Given the description of an element on the screen output the (x, y) to click on. 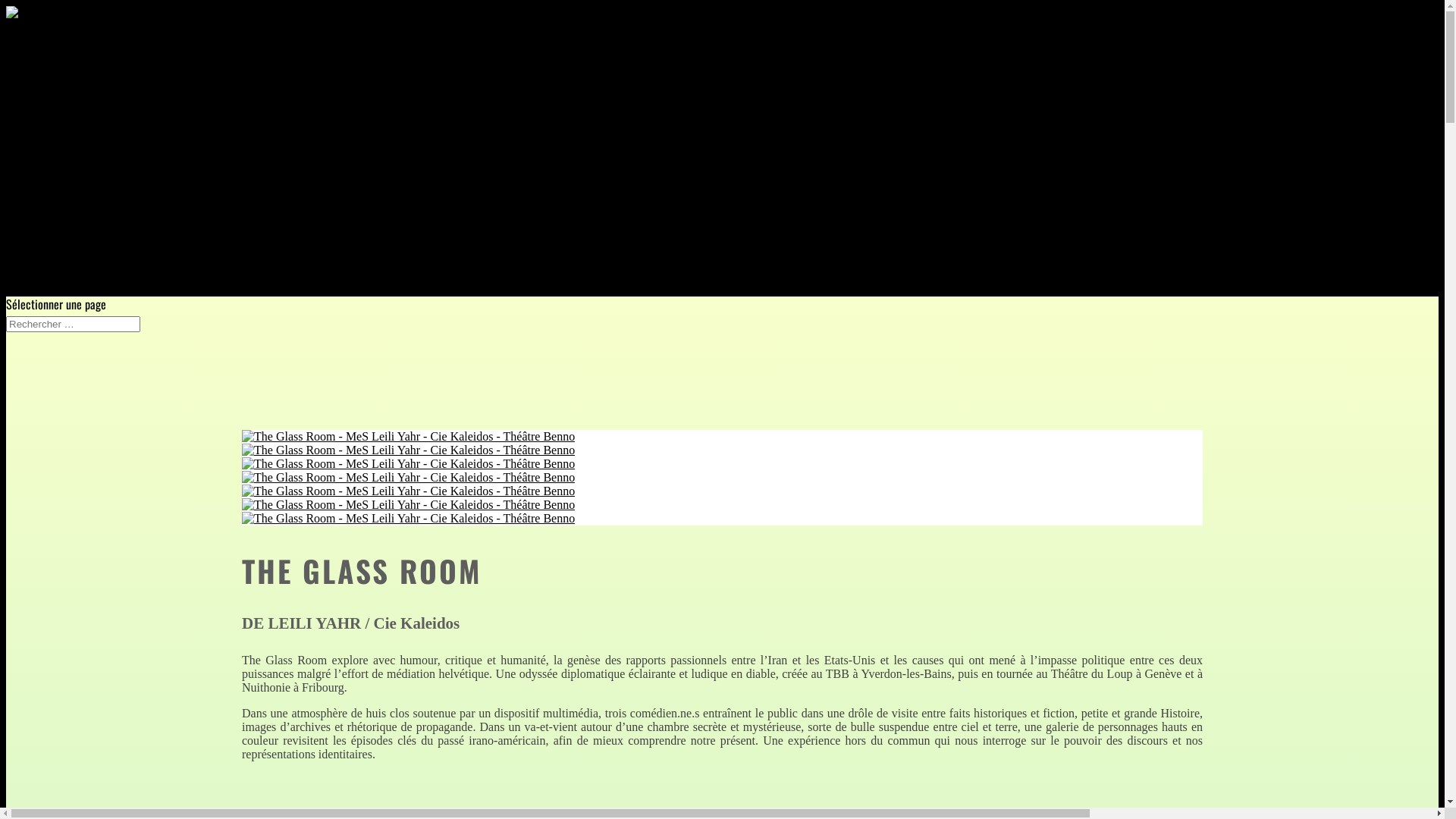
THE GLASS ROOM Element type: text (108, 102)
SALOME Element type: text (85, 121)
MEDEA Element type: text (82, 159)
Cie ELEKTRA Element type: text (95, 178)
LA PHILO EN JEUX Element type: text (77, 272)
KOSMOSE Element type: text (119, 197)
INTERVENANTS Element type: text (71, 253)
ACCUEIL Element type: text (56, 45)
SWING Element type: text (82, 140)
CIE KALEIDOS Element type: text (68, 64)
STANDING UP! Element type: text (130, 234)
Rechercher: Element type: hover (73, 324)
SPECTACLES Element type: text (65, 83)
